Given the description of an element on the screen output the (x, y) to click on. 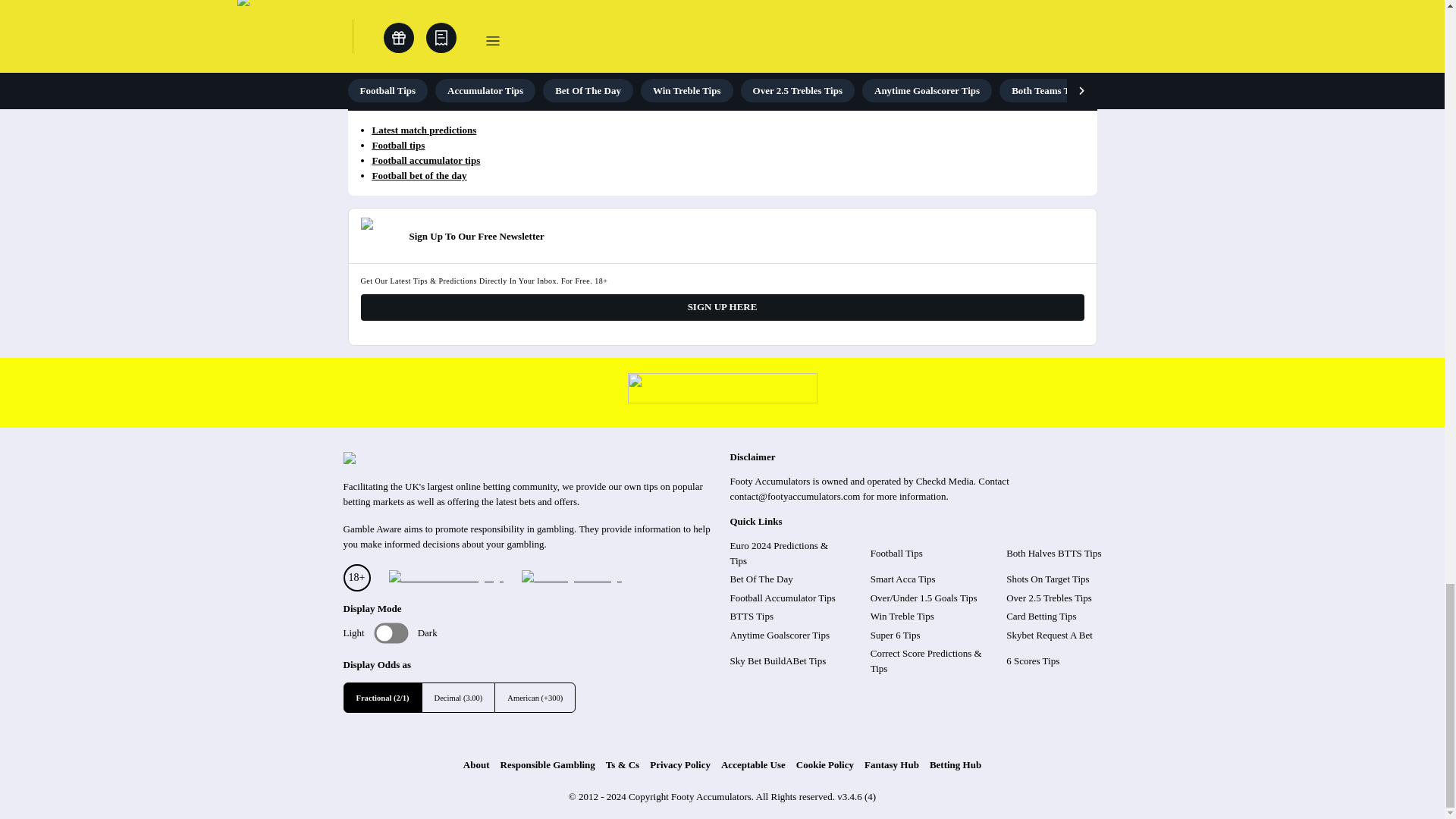
Be gamble aware campaign (445, 577)
Take time to think campaign link (721, 399)
GamblingCare.ie (571, 577)
